Given the description of an element on the screen output the (x, y) to click on. 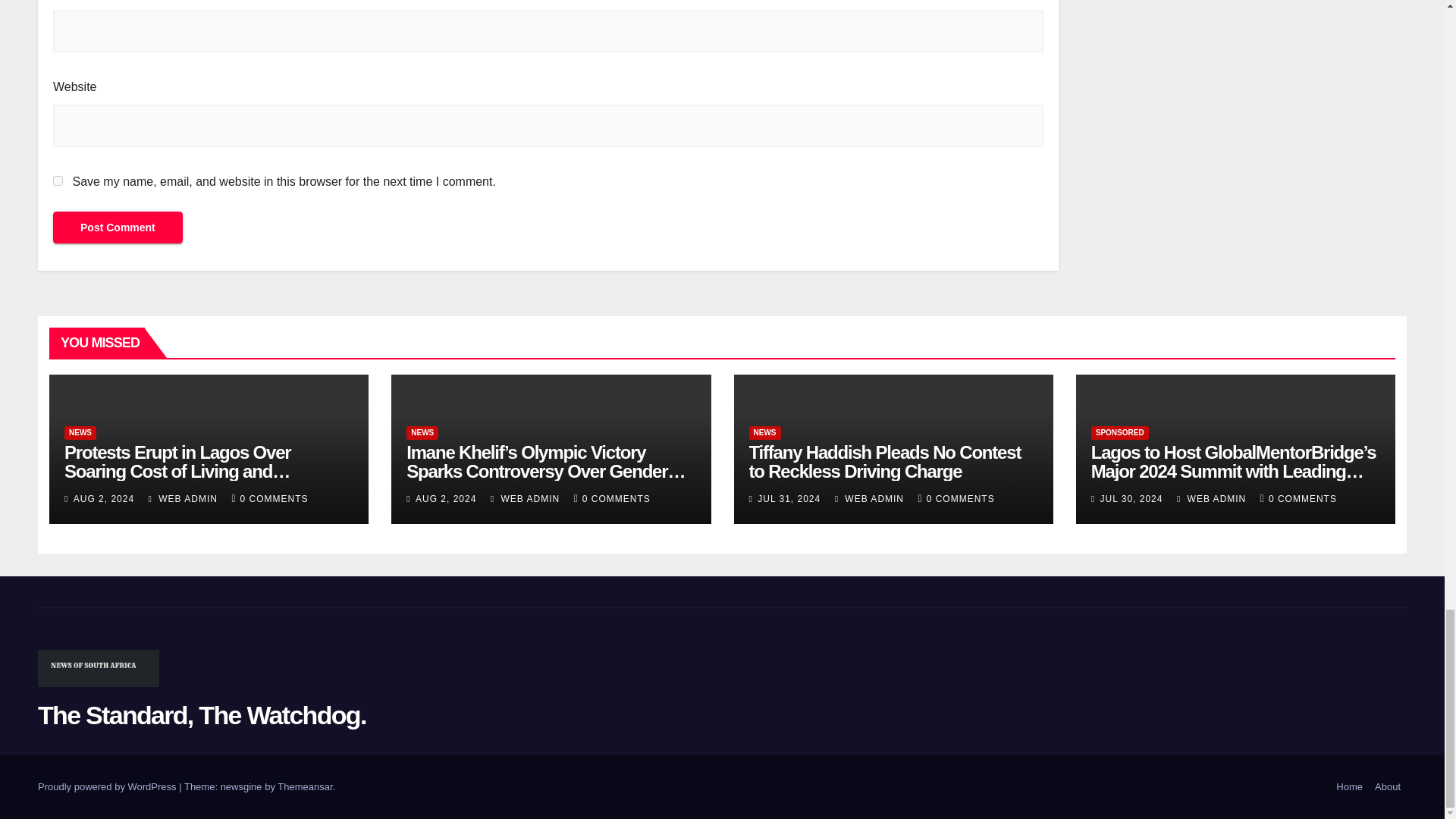
yes (57, 180)
Post Comment (117, 227)
Post Comment (117, 227)
Home (1349, 786)
